Given the description of an element on the screen output the (x, y) to click on. 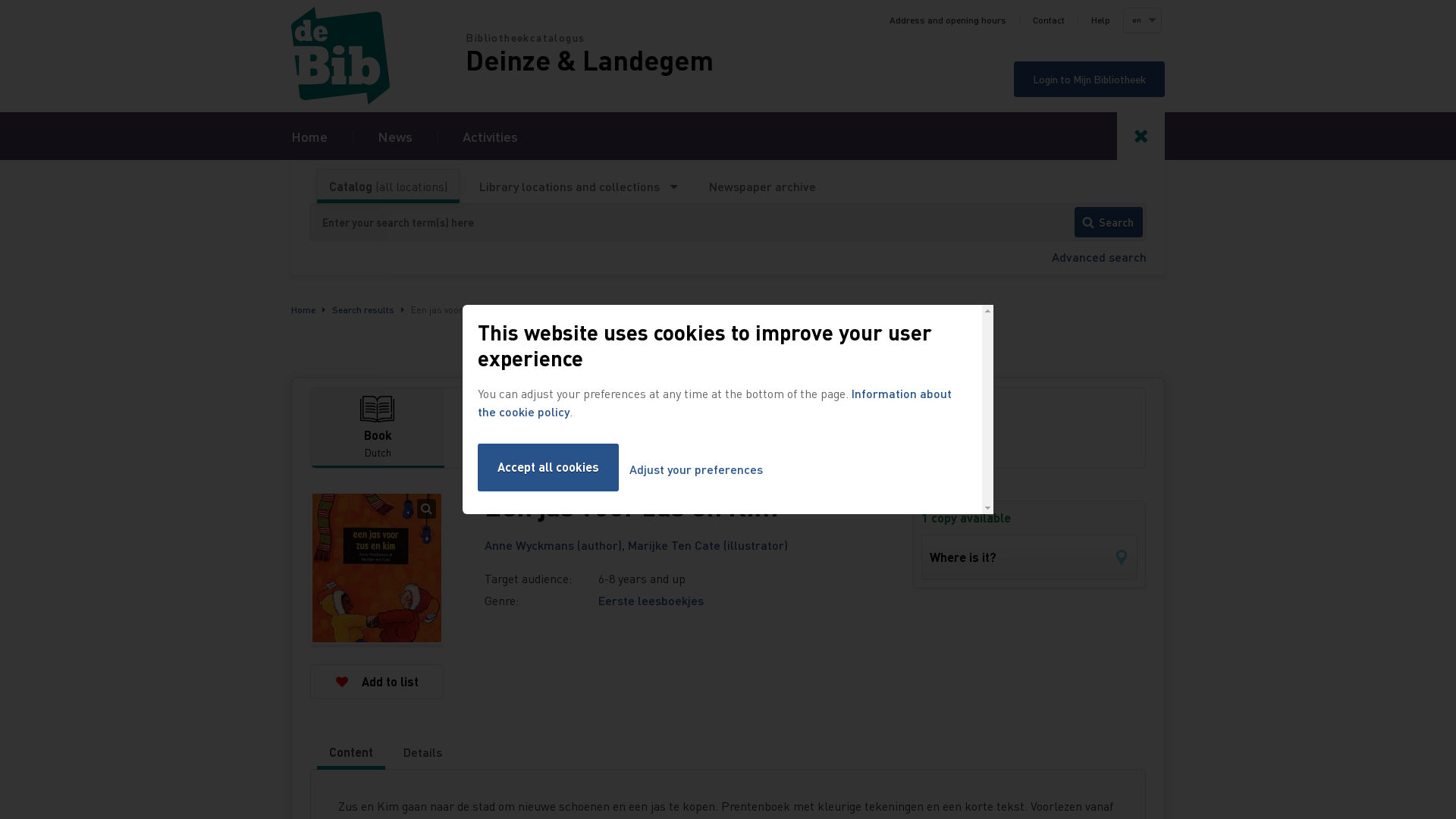
Search Element type: text (1107, 222)
Login to Mijn Bibliotheek Element type: text (1088, 79)
Home Element type: hover (378, 55)
Help Element type: text (1100, 20)
Address and opening hours Element type: text (947, 20)
en Element type: text (1142, 20)
Newspaper archive Element type: text (762, 186)
Home Element type: text (303, 309)
Search results Element type: text (363, 309)
Where is it? Element type: text (1029, 557)
Catalog (all locations) Element type: text (387, 186)
Home Element type: text (309, 136)
Contact Element type: text (1048, 20)
Skip to search Element type: text (0, 0)
Anne Wyckmans (author), Element type: text (555, 544)
Activities Element type: text (489, 136)
Adjust your preferences Element type: text (695, 469)
Information about the cookie policy Element type: text (714, 402)
Add to list Element type: text (376, 681)
Eerste leesboekjes Element type: text (650, 600)
Library locations and collections Element type: text (577, 186)
News Element type: text (394, 136)
Accept all cookies Element type: text (547, 466)
Toggle search Element type: hover (1140, 136)
Content Element type: text (350, 751)
Details Element type: text (422, 751)
Marijke Ten Cate (illustrator) Element type: text (707, 544)
Advanced search Element type: text (1098, 256)
